Given the description of an element on the screen output the (x, y) to click on. 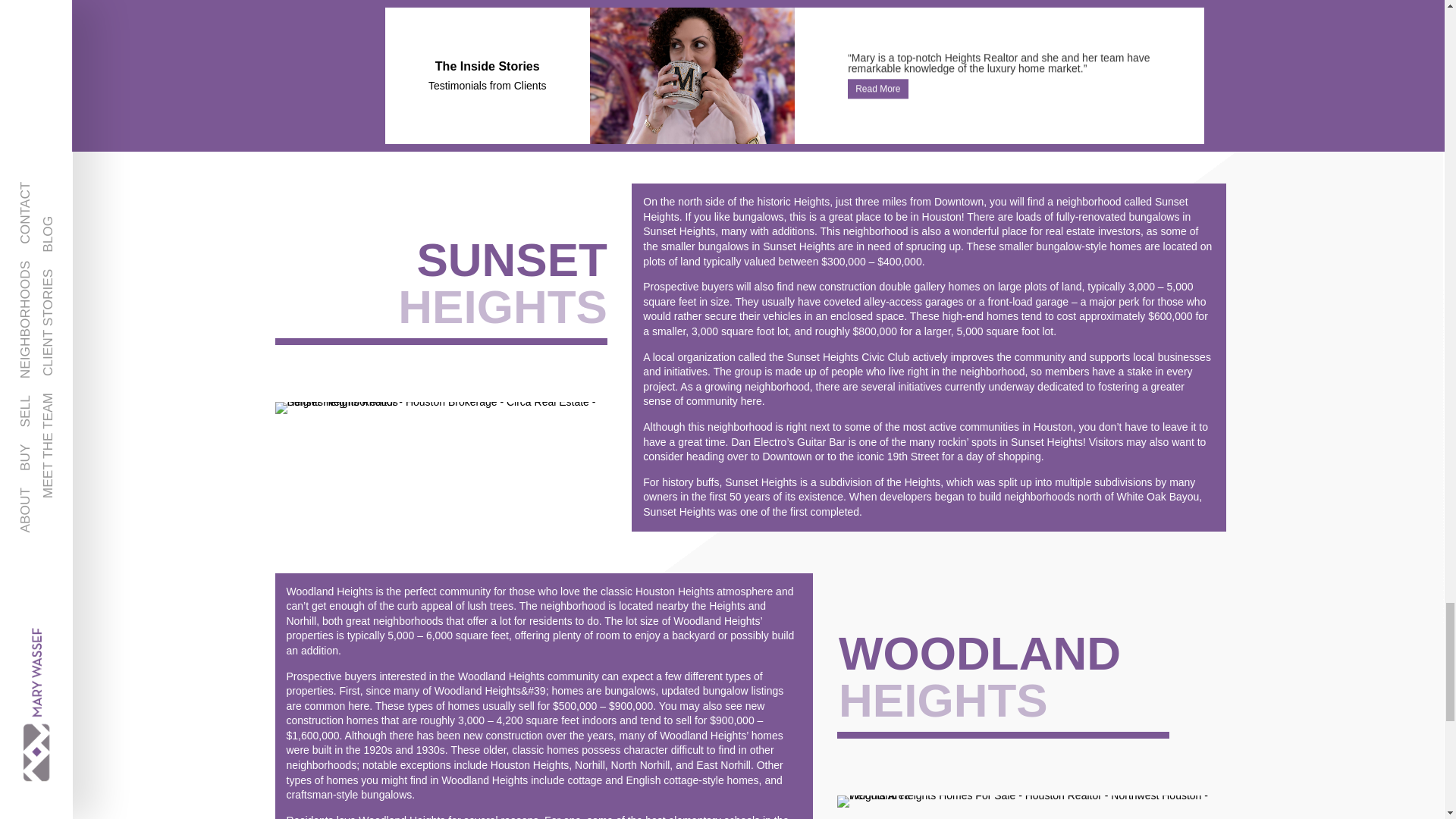
Woodland Heights (1031, 801)
Shady Acres (1031, 70)
Sunset Heights (441, 408)
